Given the description of an element on the screen output the (x, y) to click on. 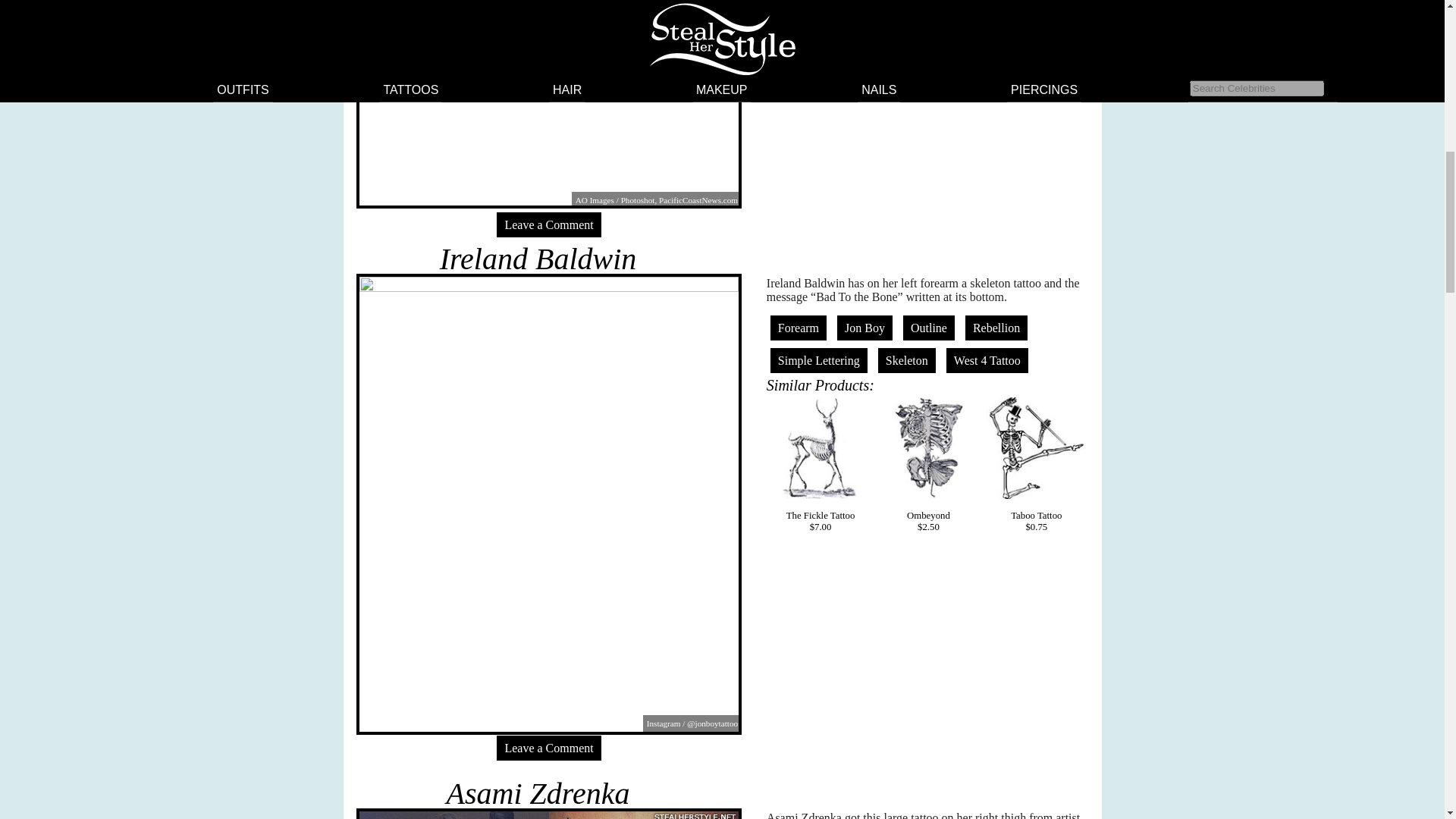
The Fickle Tattoo Deer Skeleton Temporary Tattoo -  (820, 447)
Ireland Baldwin tattoos (538, 258)
Leave a Comment (547, 224)
Asami Zdrenka tattoos (538, 793)
